Given the description of an element on the screen output the (x, y) to click on. 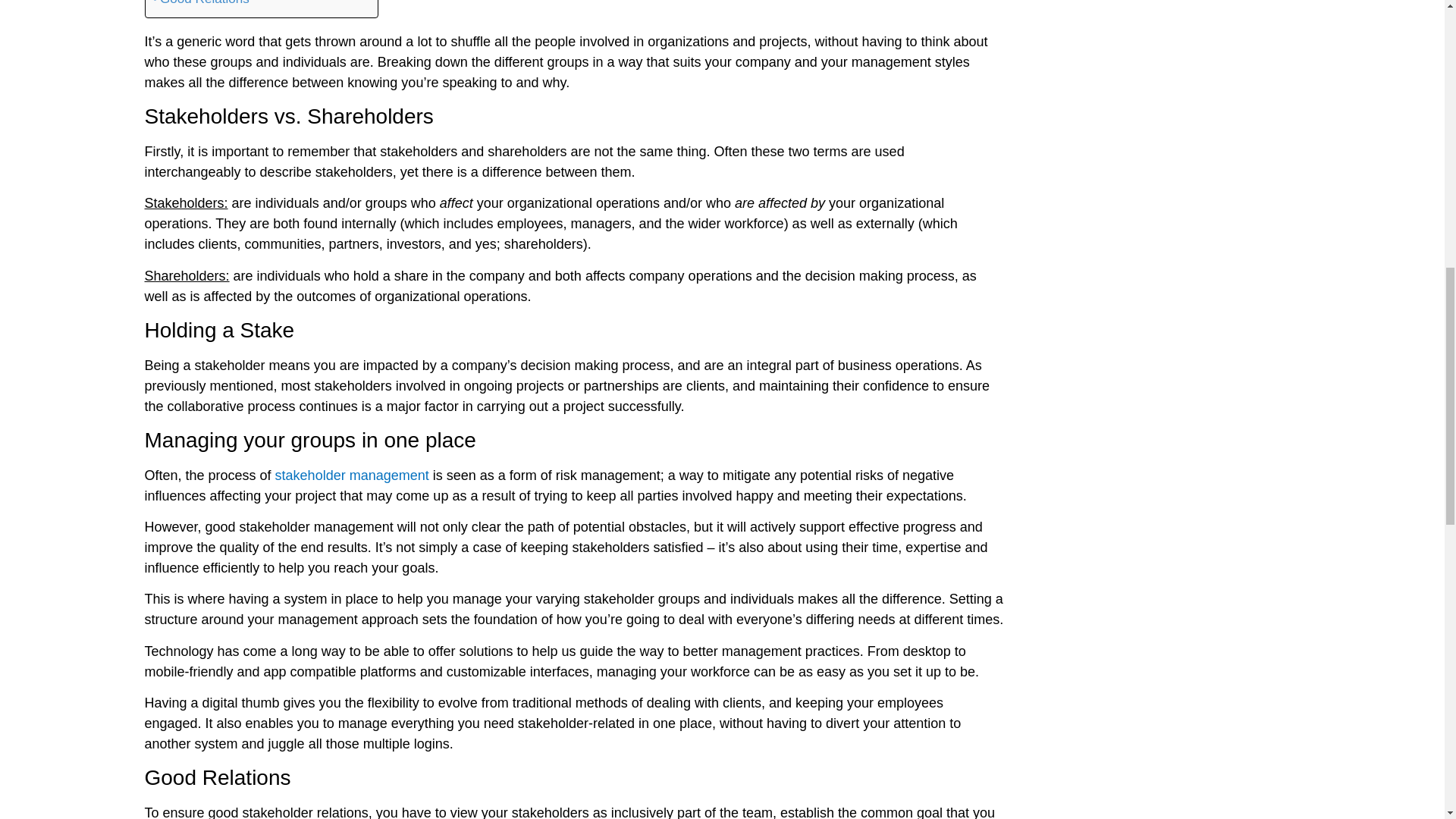
Good Relations (200, 4)
stakeholder management (352, 474)
Good Relations (200, 4)
